Given the description of an element on the screen output the (x, y) to click on. 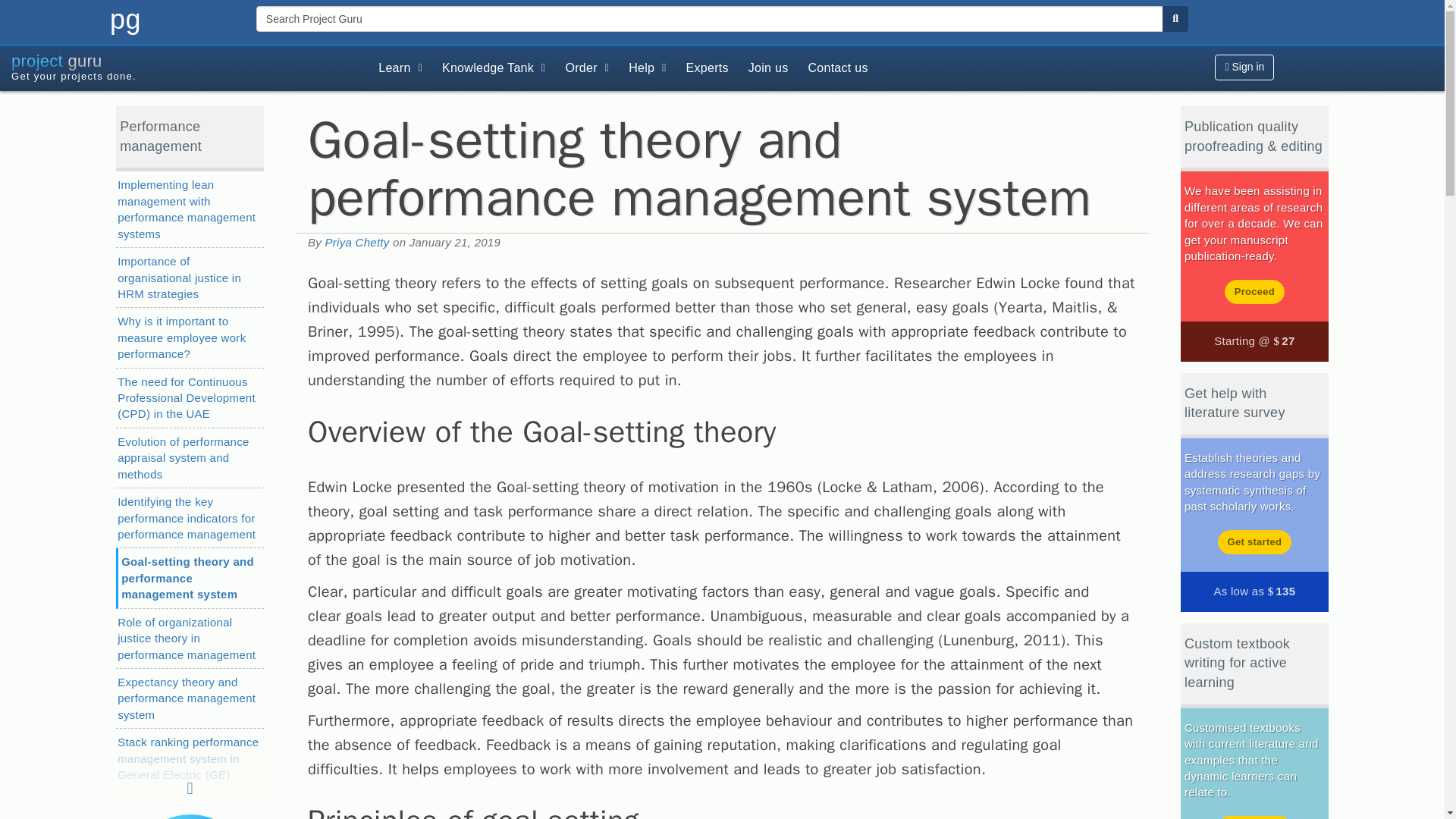
Learn (400, 67)
Knowledge Tank (493, 67)
pg (125, 19)
www.projectguru.in (180, 67)
Learn (180, 67)
